Given the description of an element on the screen output the (x, y) to click on. 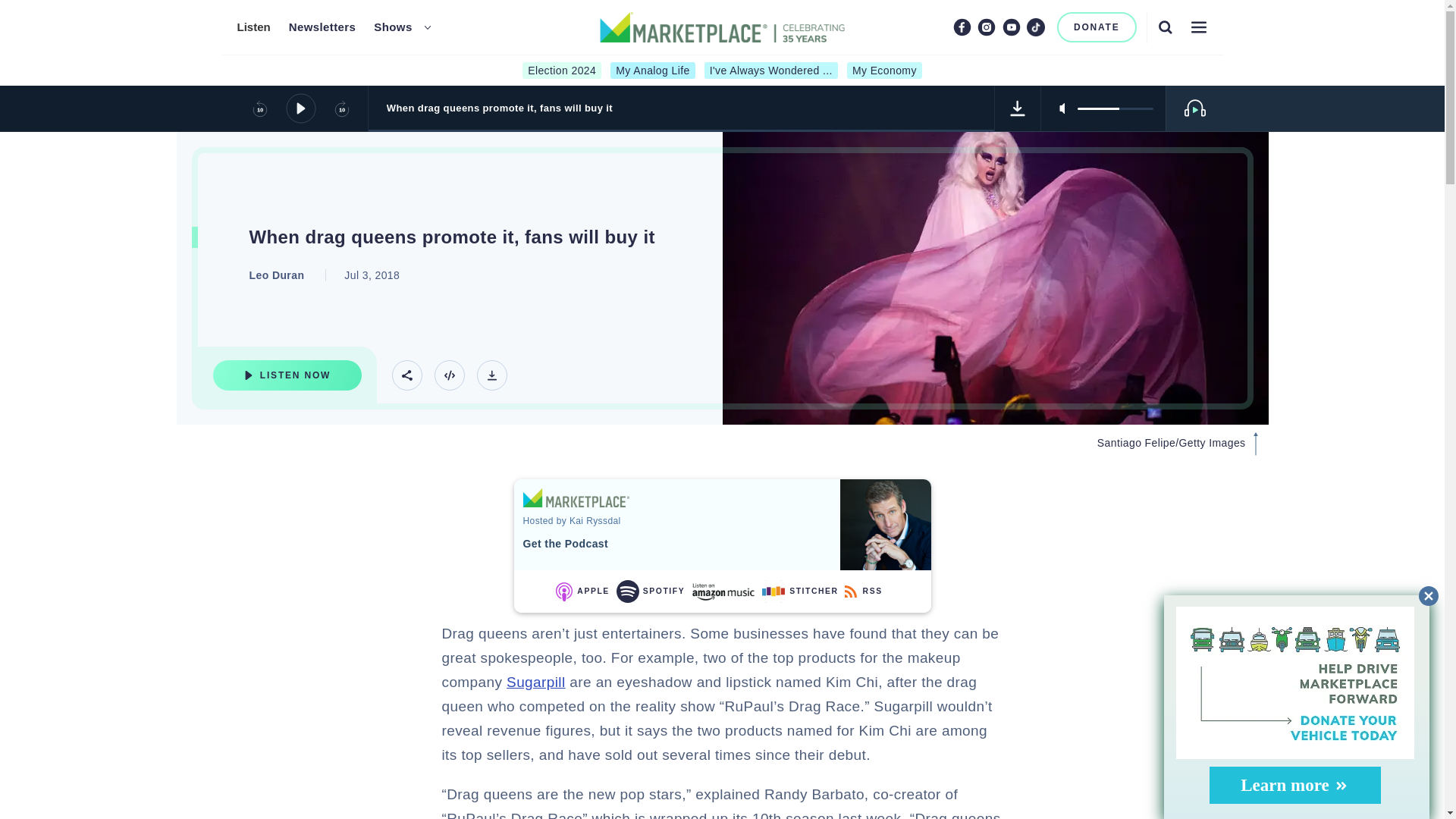
Menu (1198, 27)
Listen Now (286, 374)
Youtube (1011, 27)
Download Track (1017, 108)
Facebook (962, 27)
Instagram (985, 27)
Newsletters (322, 27)
TikTok (1035, 27)
volume (1115, 108)
Listen (252, 26)
Search (1164, 27)
Shows (393, 26)
Marketplace (575, 497)
5 (1115, 108)
